Given the description of an element on the screen output the (x, y) to click on. 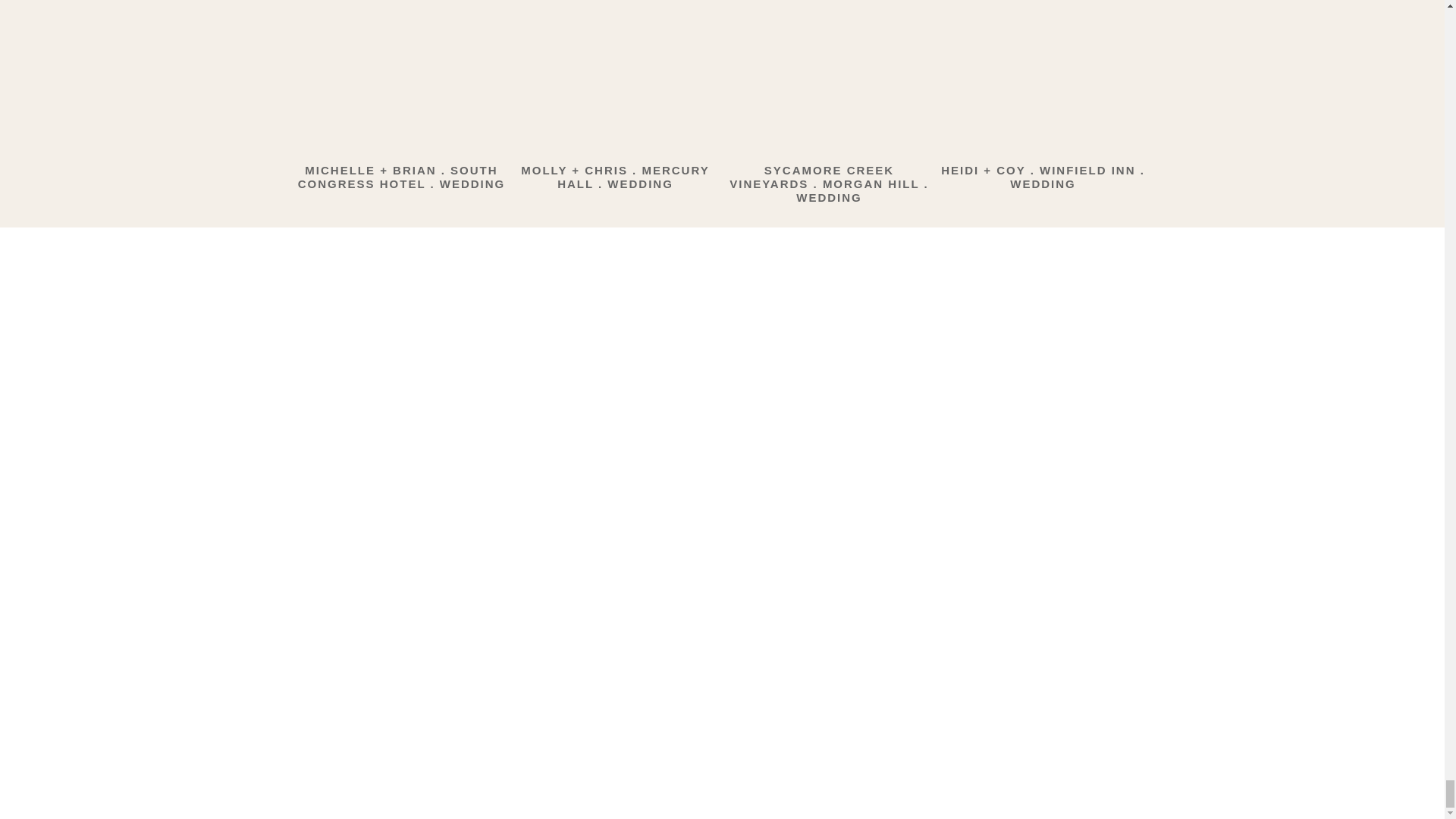
SYCAMORE CREEK VINEYARDS . MORGAN HILL . WEDDING (828, 183)
